Given the description of an element on the screen output the (x, y) to click on. 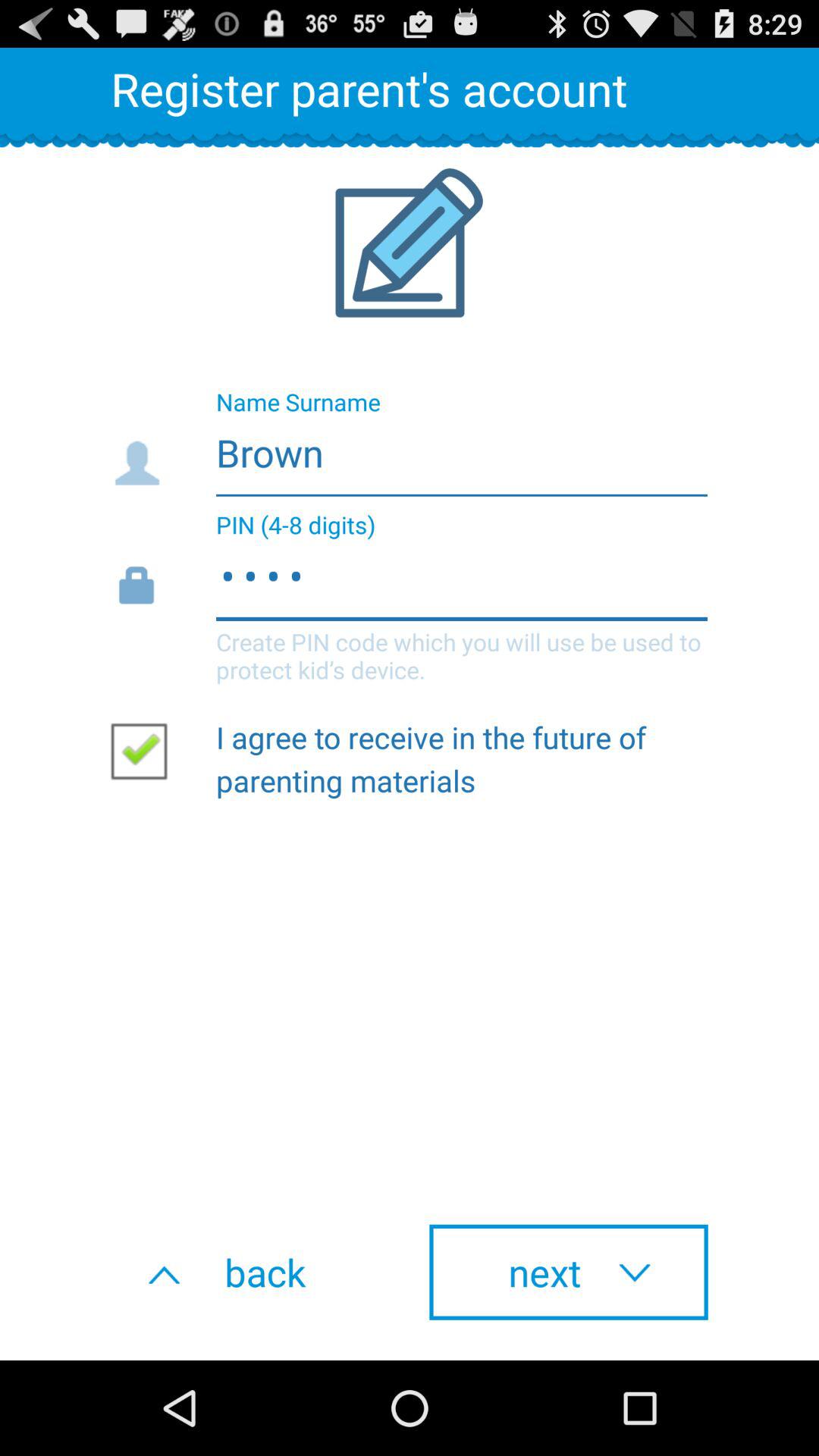
launch item above back (145, 750)
